Given the description of an element on the screen output the (x, y) to click on. 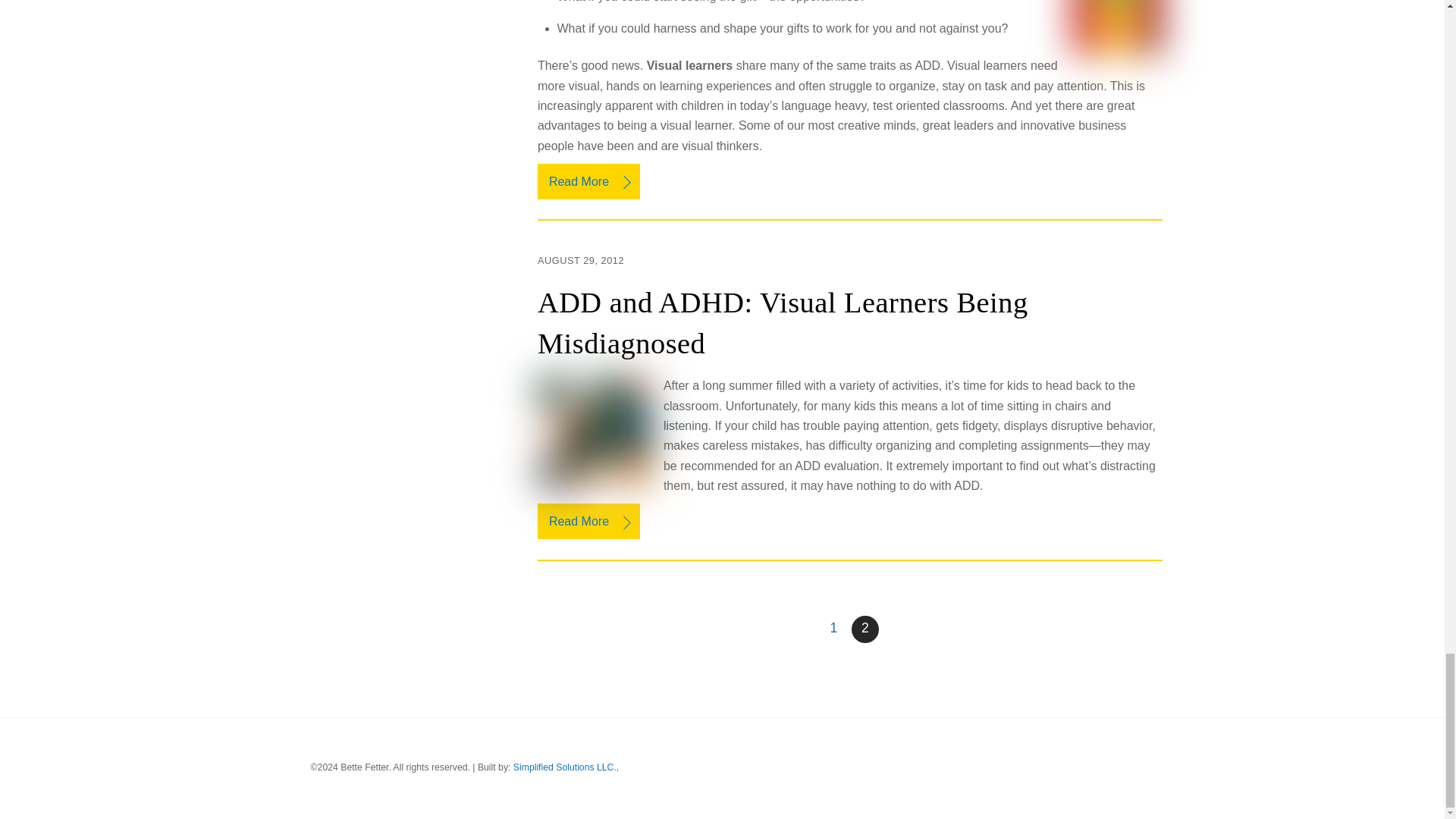
Distracted Student in Classroom (593, 432)
